Given the description of an element on the screen output the (x, y) to click on. 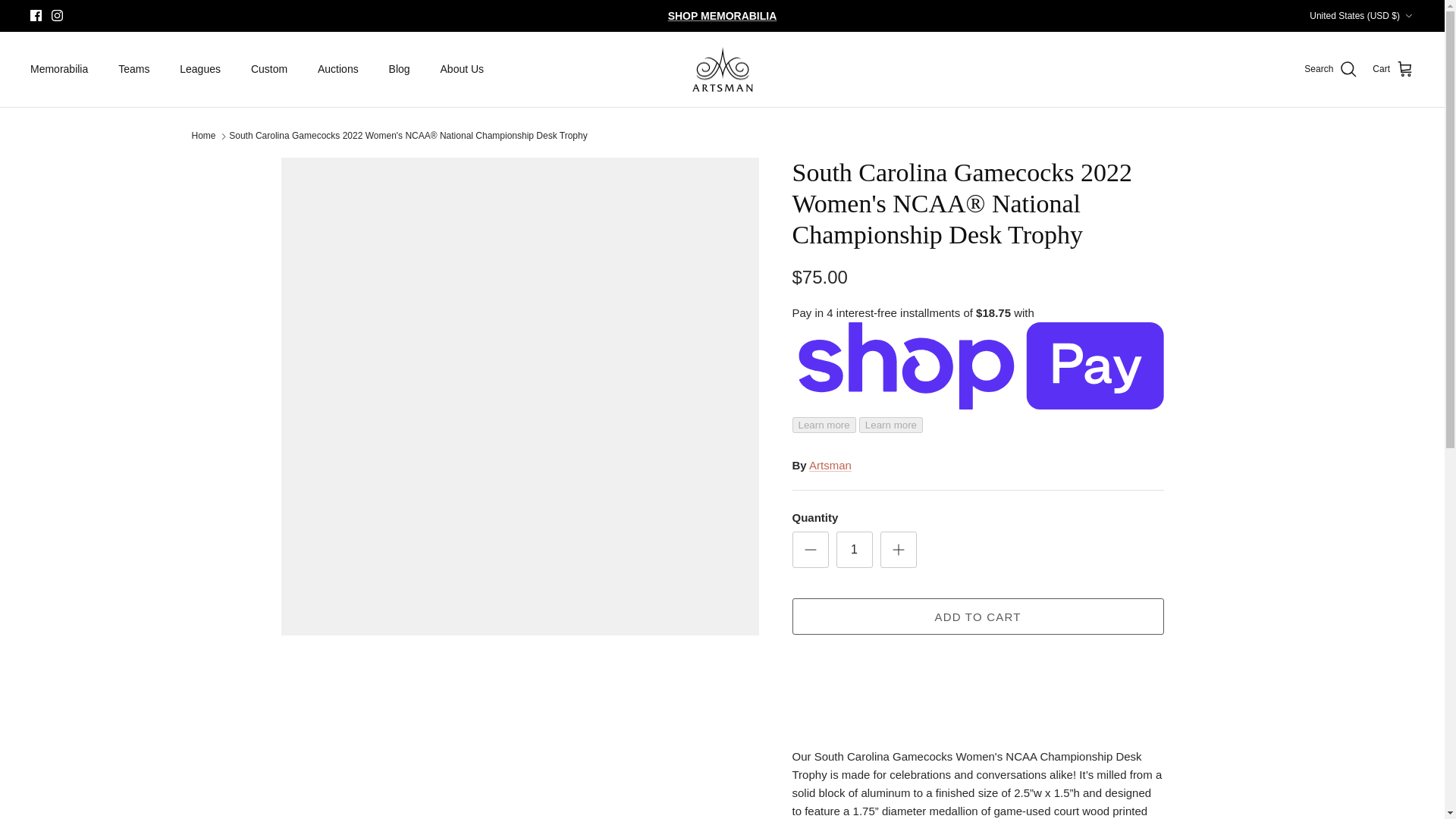
Minus (809, 549)
Instagram (56, 15)
All products (722, 15)
Facebook (36, 15)
Artsman (721, 69)
SHOP MEMORABILIA (722, 15)
Facebook (36, 15)
Plus (897, 549)
Instagram (56, 15)
1 (853, 549)
Down (1408, 15)
